Given the description of an element on the screen output the (x, y) to click on. 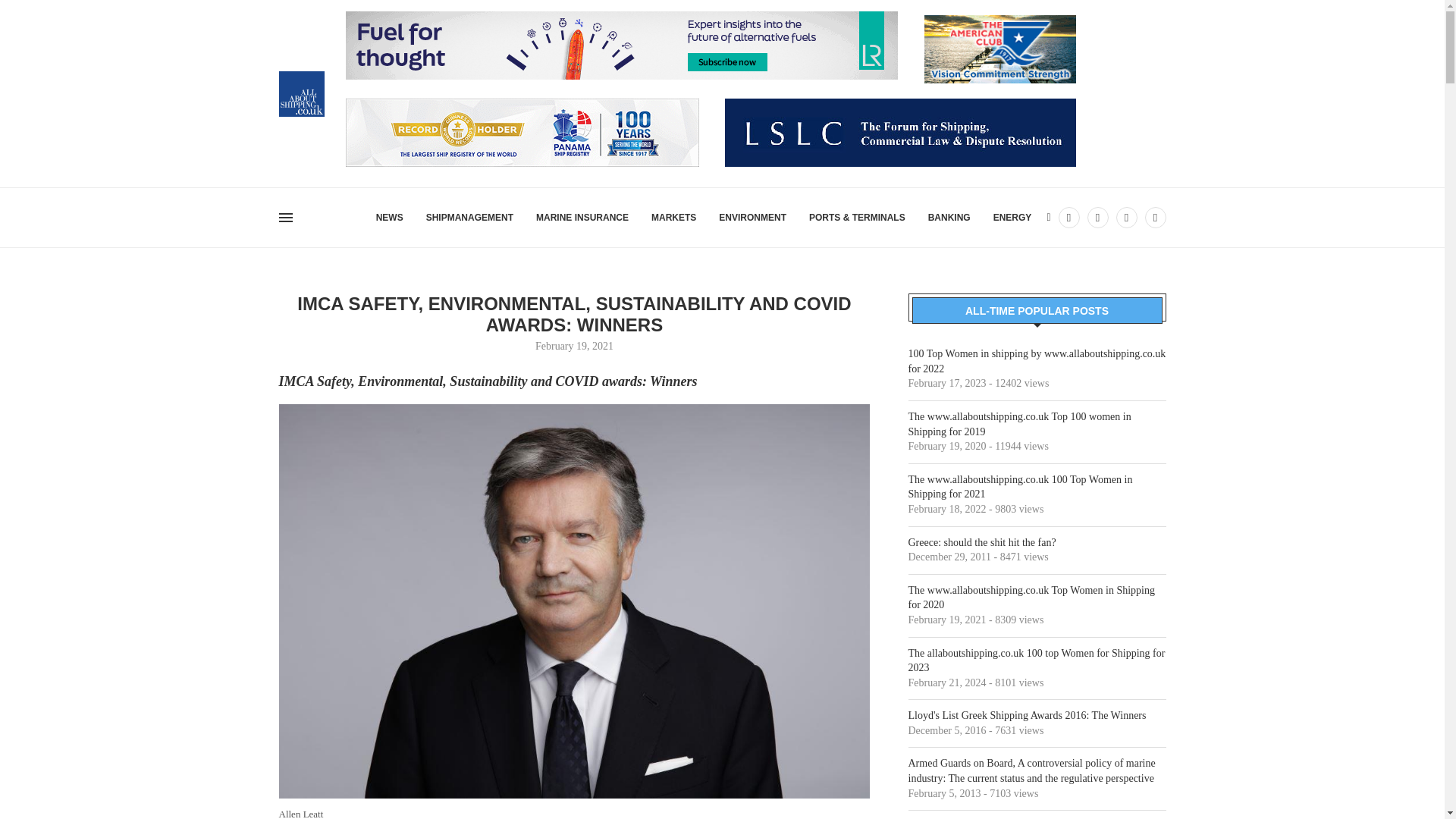
NEWS (389, 217)
MARINE INSURANCE (581, 217)
BANKING (949, 217)
SHIPMANAGEMENT (469, 217)
MARKETS (672, 217)
ENERGY (1012, 217)
ENVIRONMENT (752, 217)
